Given the description of an element on the screen output the (x, y) to click on. 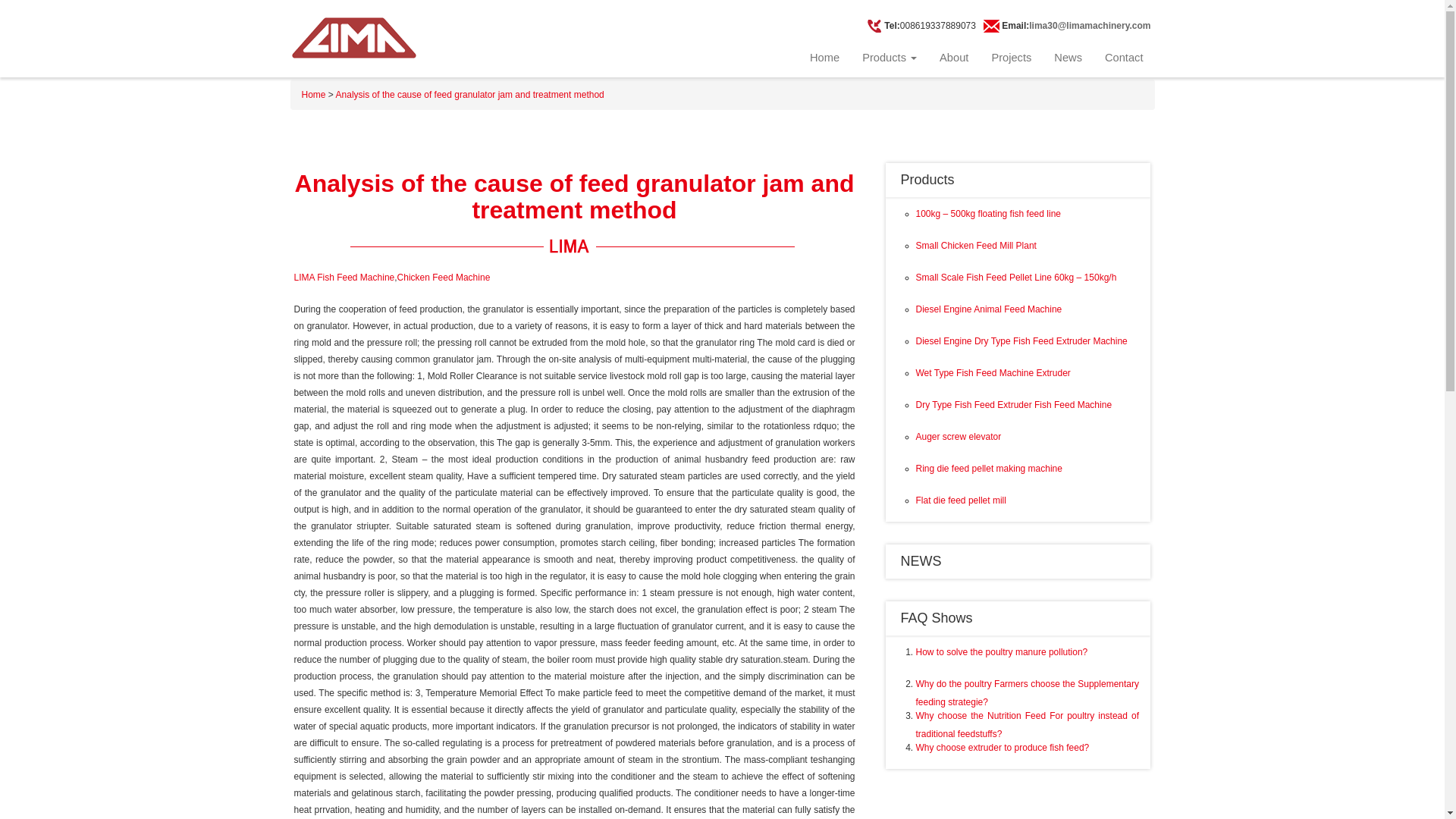
Diesel Engine Animal Feed Machine (988, 308)
About (953, 57)
Products (889, 57)
Chicken Feed Machine (443, 276)
LIMA Fish Feed Machine (344, 276)
Products (928, 179)
News (1067, 57)
Home (313, 94)
Dry Type Fish Feed Extruder Fish Feed Machine (1013, 404)
Projects (1010, 57)
Auger screw elevator (958, 436)
Why choose extruder to produce fish feed? (1002, 747)
How to solve the poultry manure pollution? (1001, 652)
Contact (1123, 57)
